Given the description of an element on the screen output the (x, y) to click on. 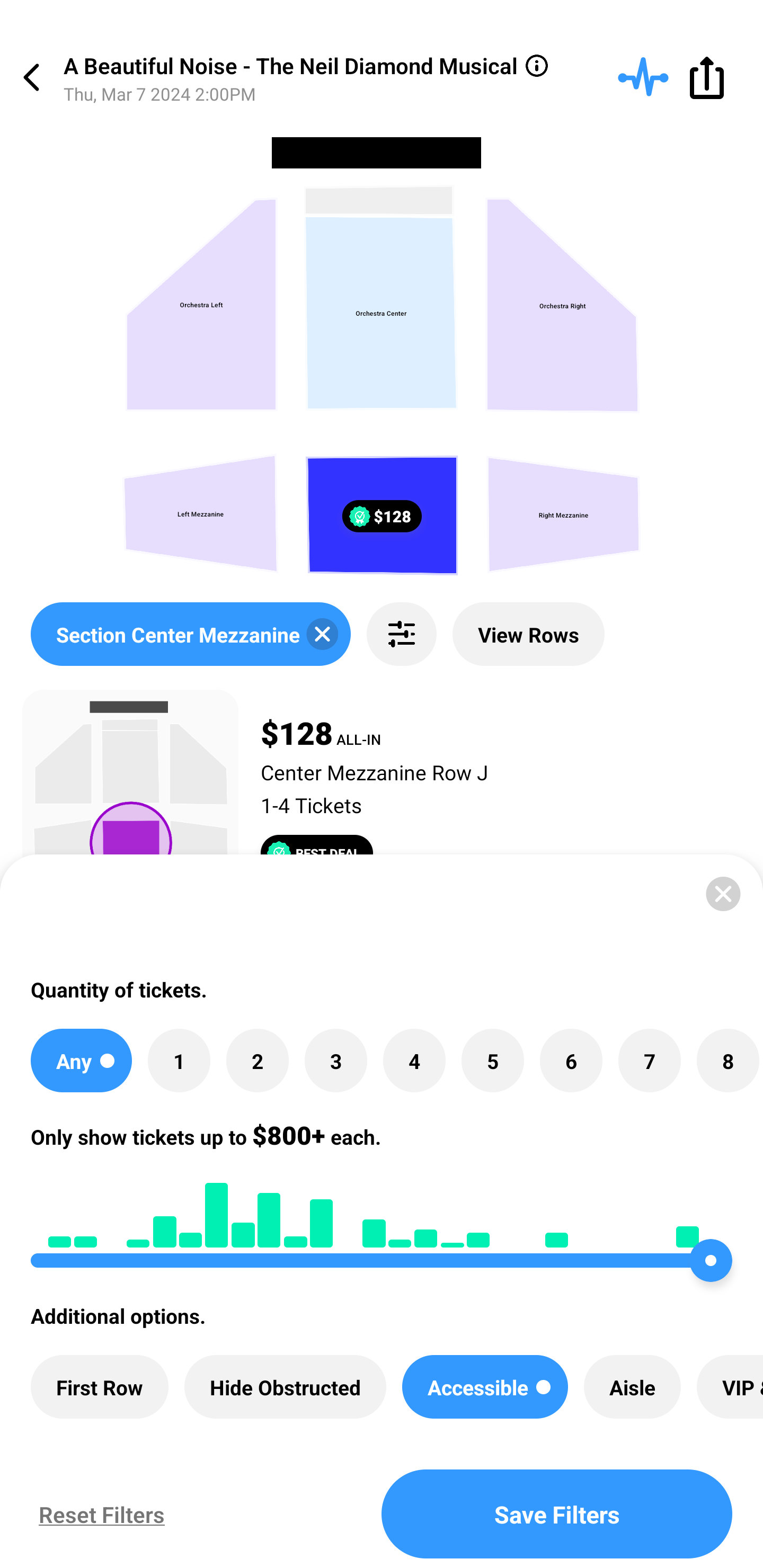
Any (80, 1060)
1 (179, 1060)
2 (257, 1060)
3 (335, 1060)
4 (414, 1060)
5 (492, 1060)
6 (571, 1060)
7 (649, 1060)
8 (727, 1060)
First Row (99, 1386)
Hide Obstructed (285, 1386)
Accessible (484, 1386)
Aisle (631, 1386)
Save Filters (556, 1513)
Reset Filters (97, 1513)
